Given the description of an element on the screen output the (x, y) to click on. 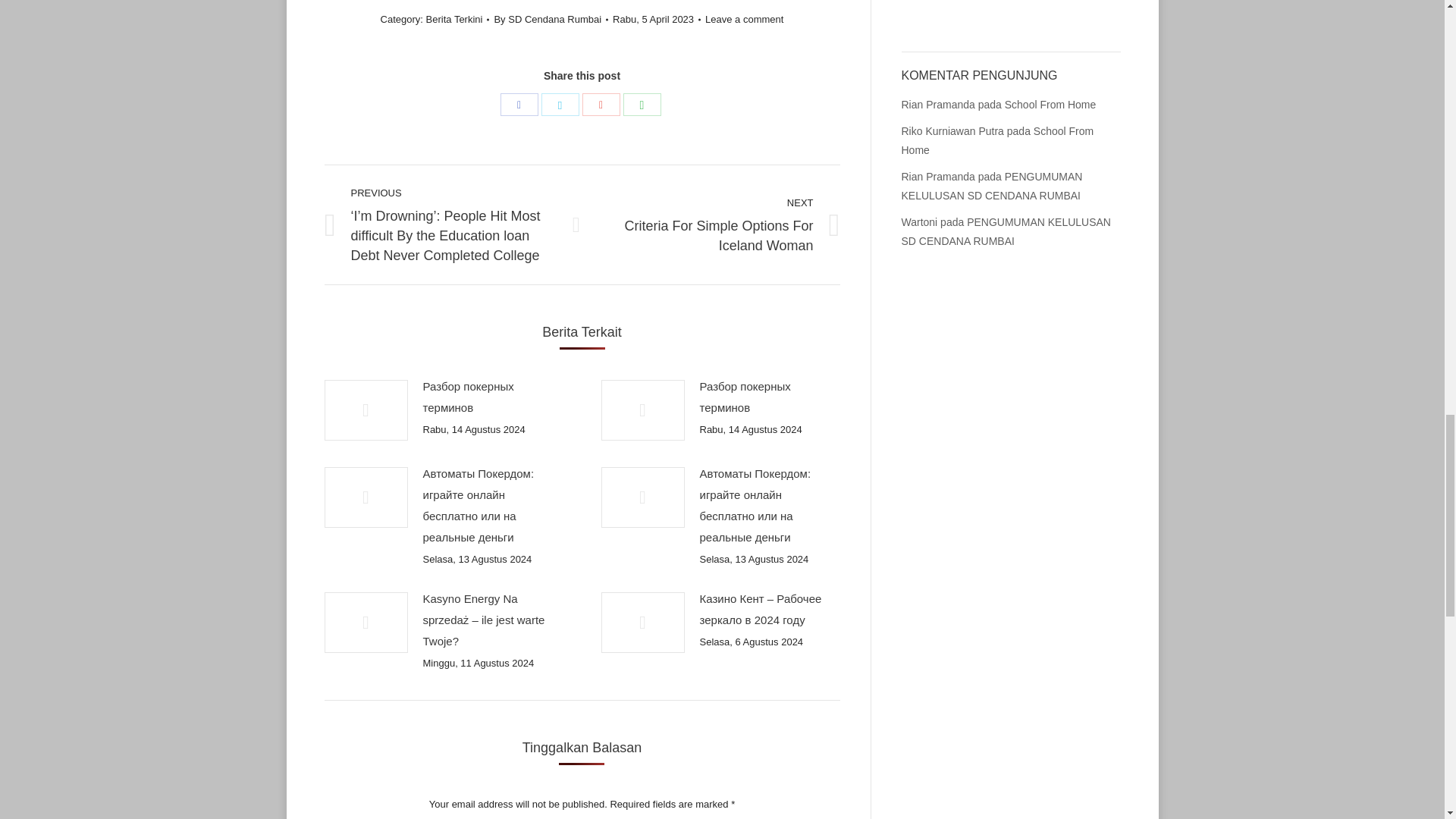
00:48 (656, 19)
Facebook (519, 104)
WhatsApp (642, 104)
Twitter (560, 104)
View all posts by SD Cendana Rumbai (550, 19)
